Given the description of an element on the screen output the (x, y) to click on. 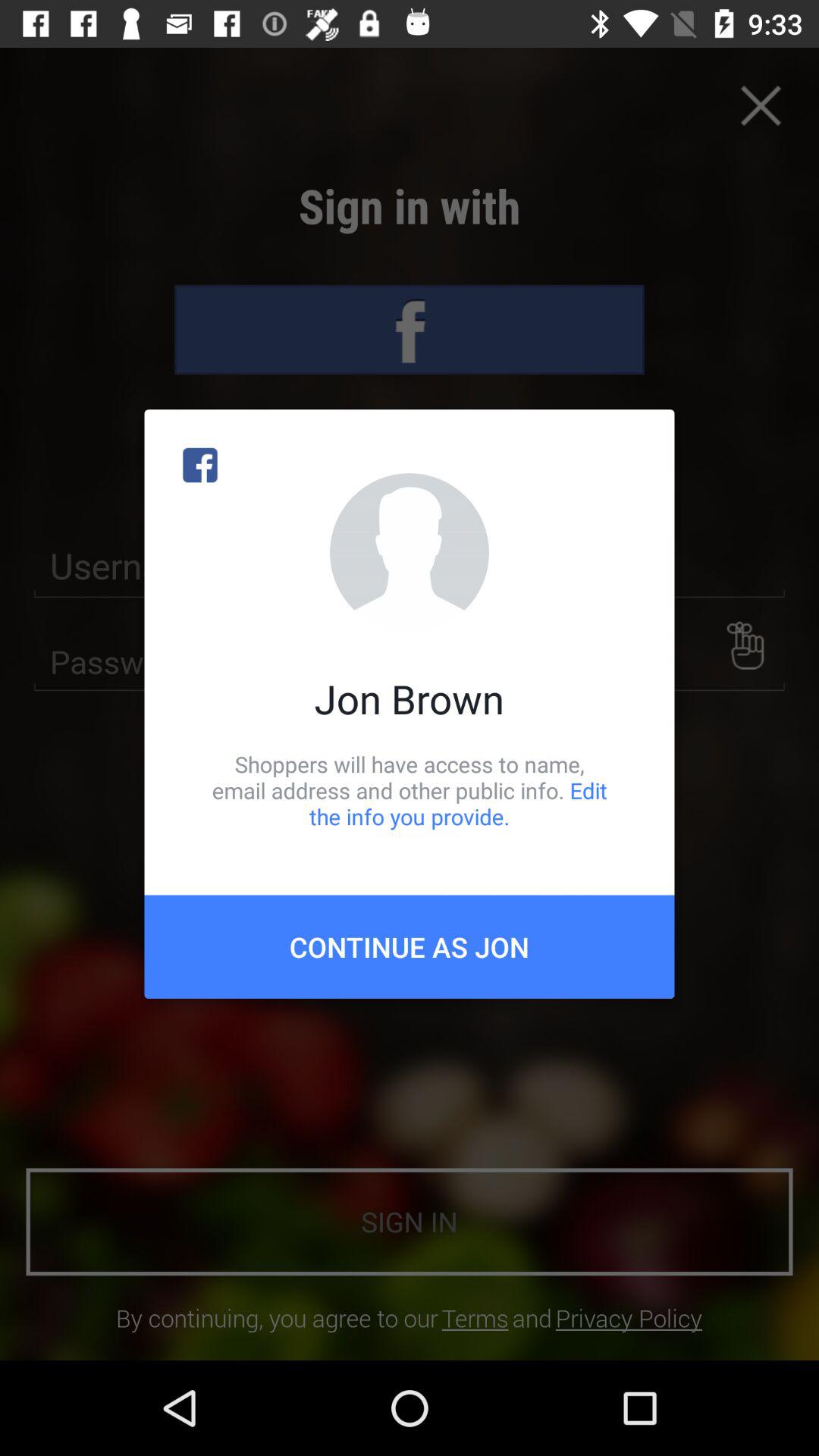
flip to shoppers will have (409, 790)
